Given the description of an element on the screen output the (x, y) to click on. 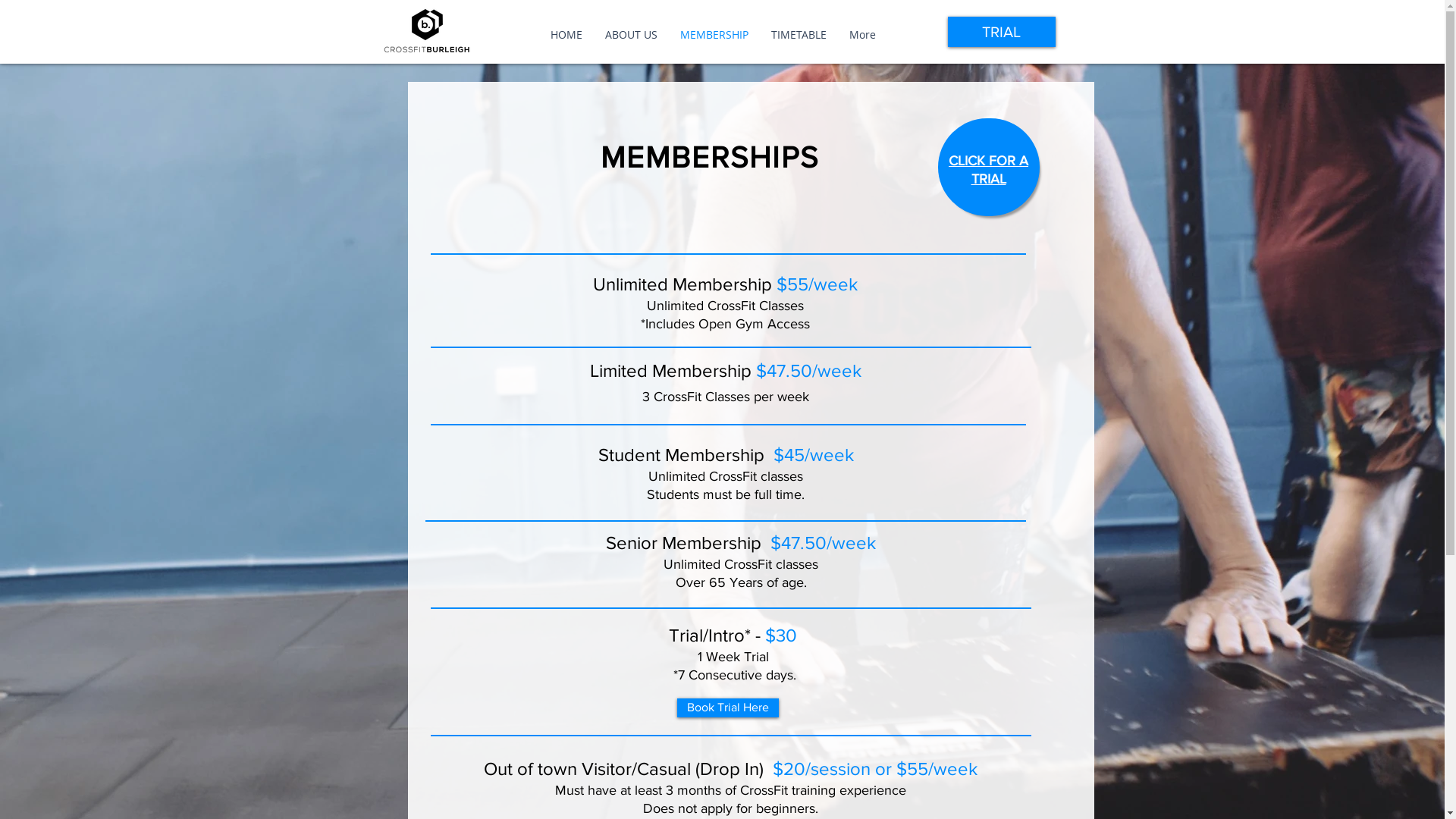
Book Trial Here Element type: text (727, 707)
HOME Element type: text (565, 34)
TRIAL Element type: text (1001, 31)
TIMETABLE Element type: text (798, 34)
CLICK FOR A TRIAL Element type: text (988, 168)
MEMBERSHIP Element type: text (713, 34)
ABOUT US Element type: text (630, 34)
